Given the description of an element on the screen output the (x, y) to click on. 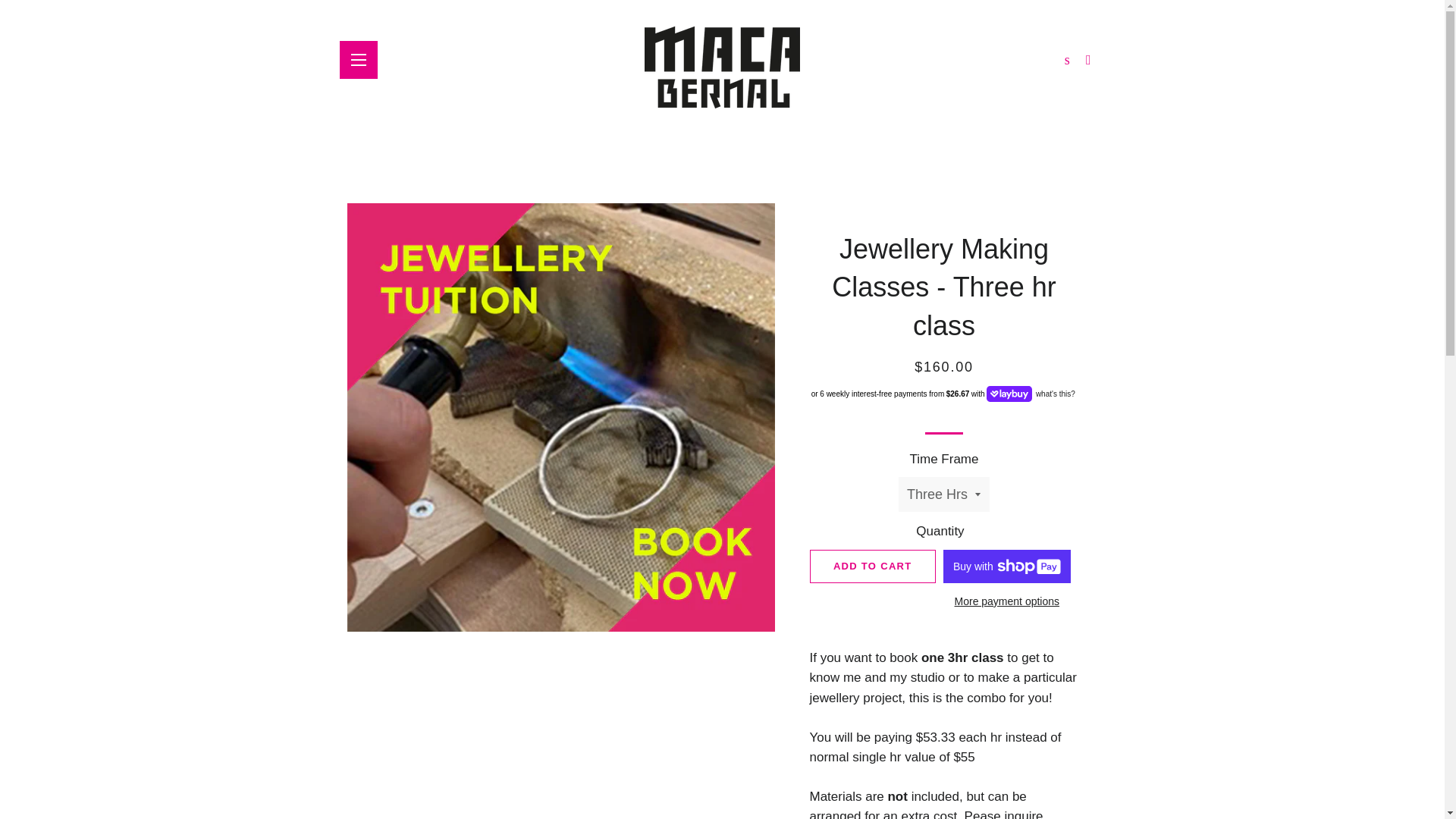
SITE NAVIGATION (358, 59)
what's this? (1053, 393)
